Given the description of an element on the screen output the (x, y) to click on. 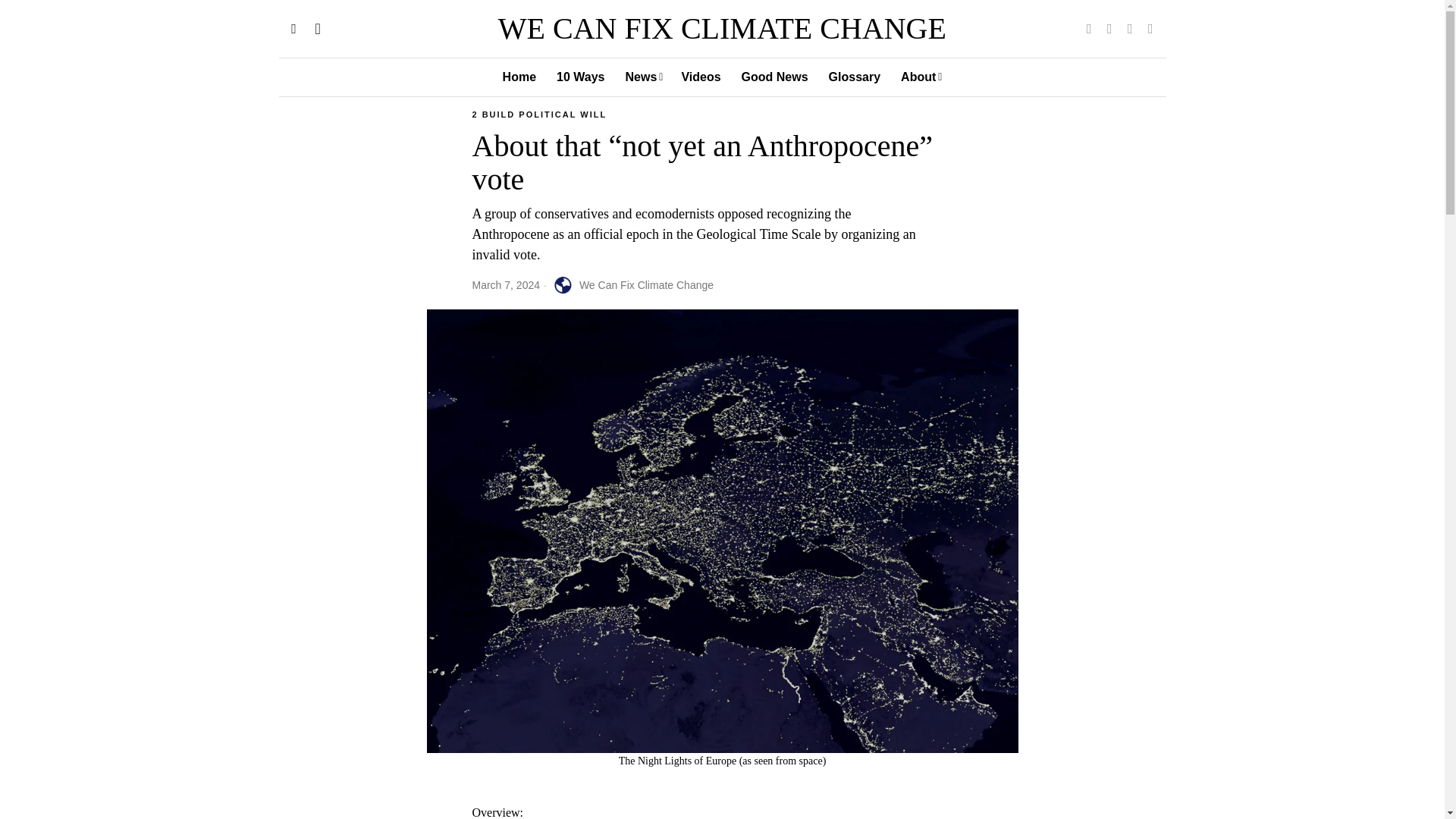
Videos (701, 77)
Good News (775, 77)
Glossary (855, 77)
10 Ways (581, 77)
Home (520, 77)
WE CAN FIX CLIMATE CHANGE (721, 28)
2 BUILD POLITICAL WILL (539, 115)
We Can Fix Climate Change (631, 284)
About (920, 77)
07 Mar, 2024 16:35:45 (505, 285)
News (643, 77)
